Given the description of an element on the screen output the (x, y) to click on. 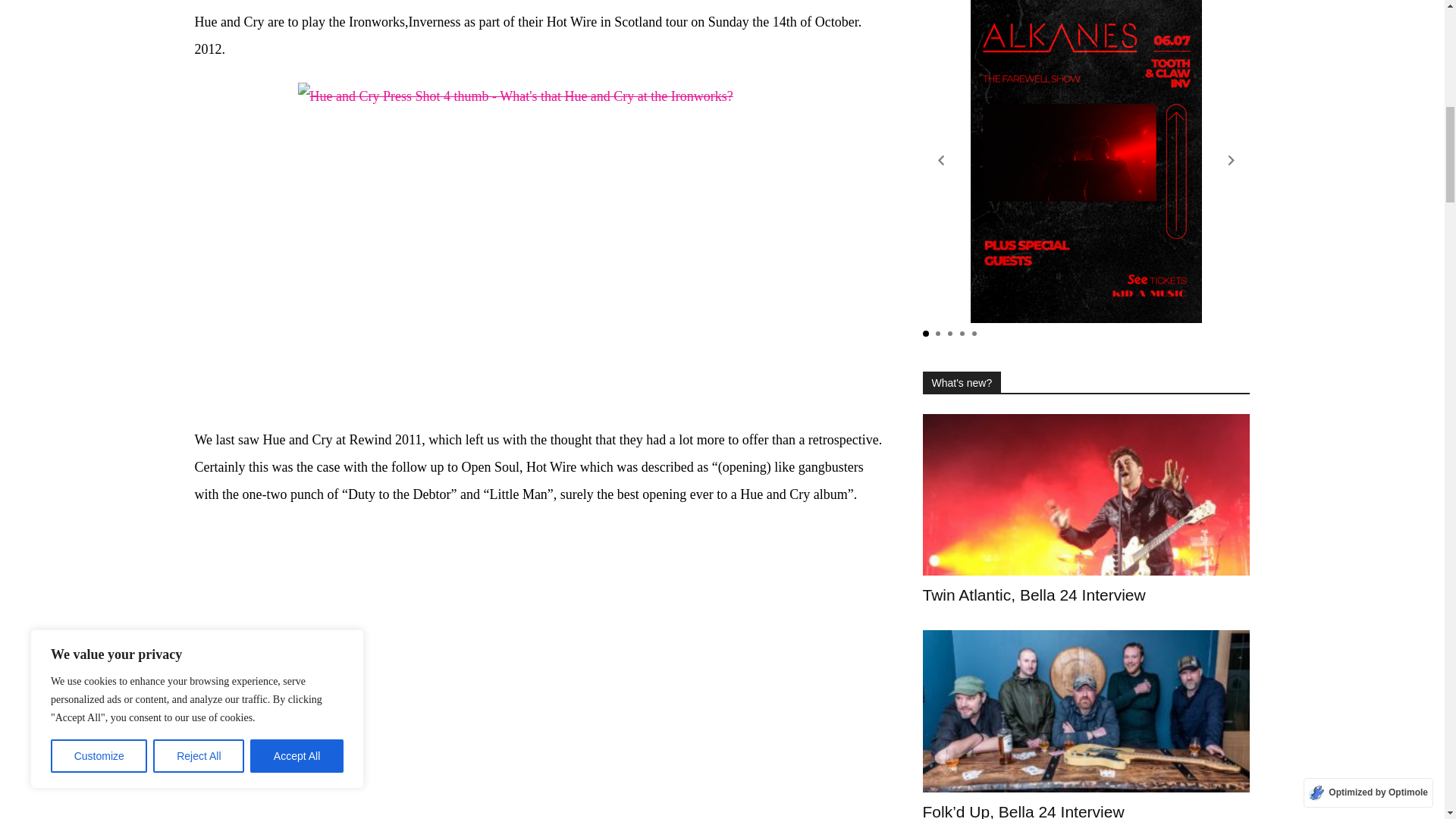
Twin Atlantic, Bella 24 Interview (1085, 494)
